Given the description of an element on the screen output the (x, y) to click on. 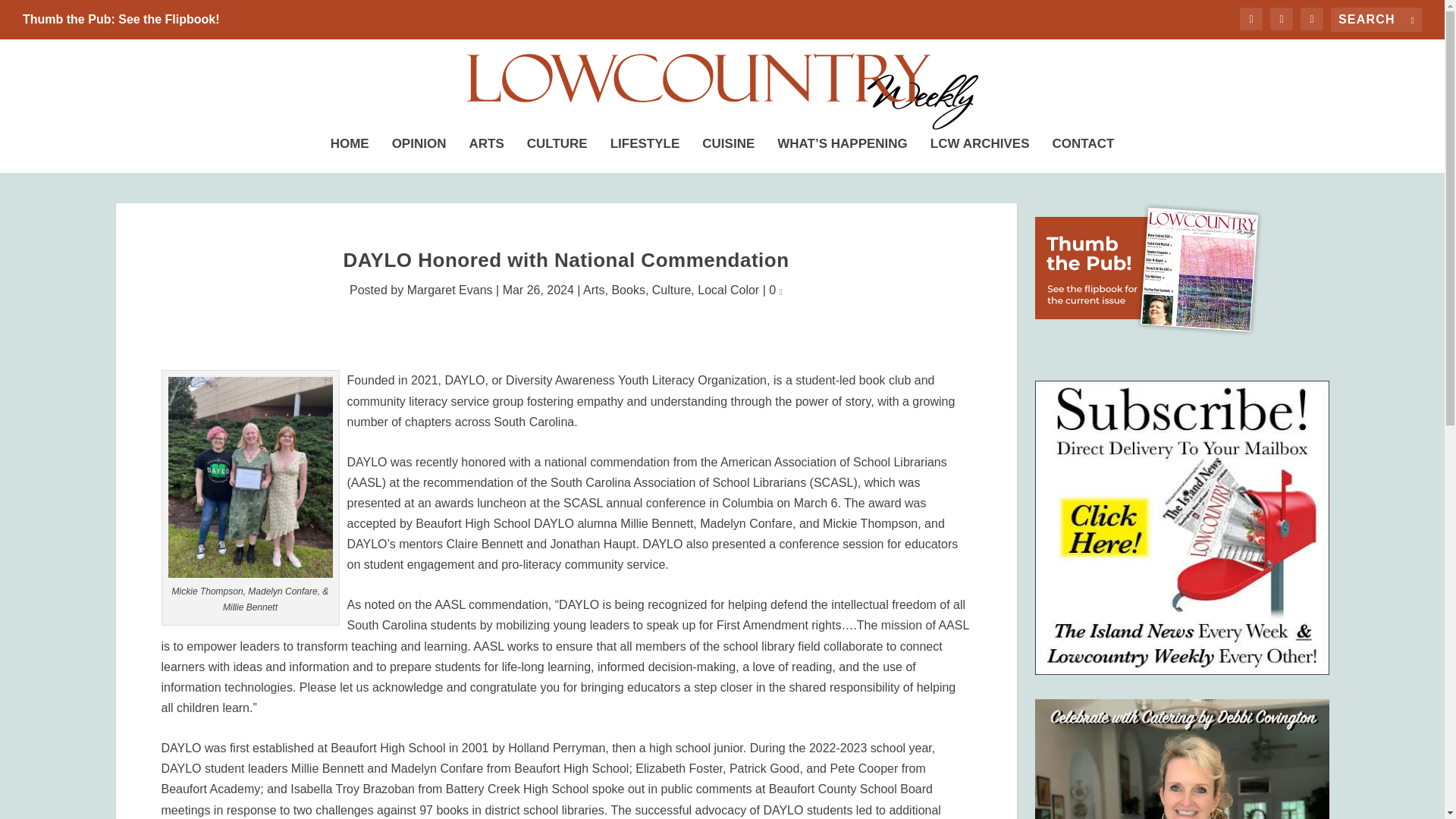
CONTACT (1083, 151)
Thumb the Pub: See the Flipbook! (121, 19)
OPINION (418, 151)
CUISINE (727, 151)
CULTURE (557, 151)
LIFESTYLE (644, 151)
HOME (349, 151)
LCW ARCHIVES (979, 151)
Search for: (1376, 19)
Posts by Margaret Evans (450, 289)
